Given the description of an element on the screen output the (x, y) to click on. 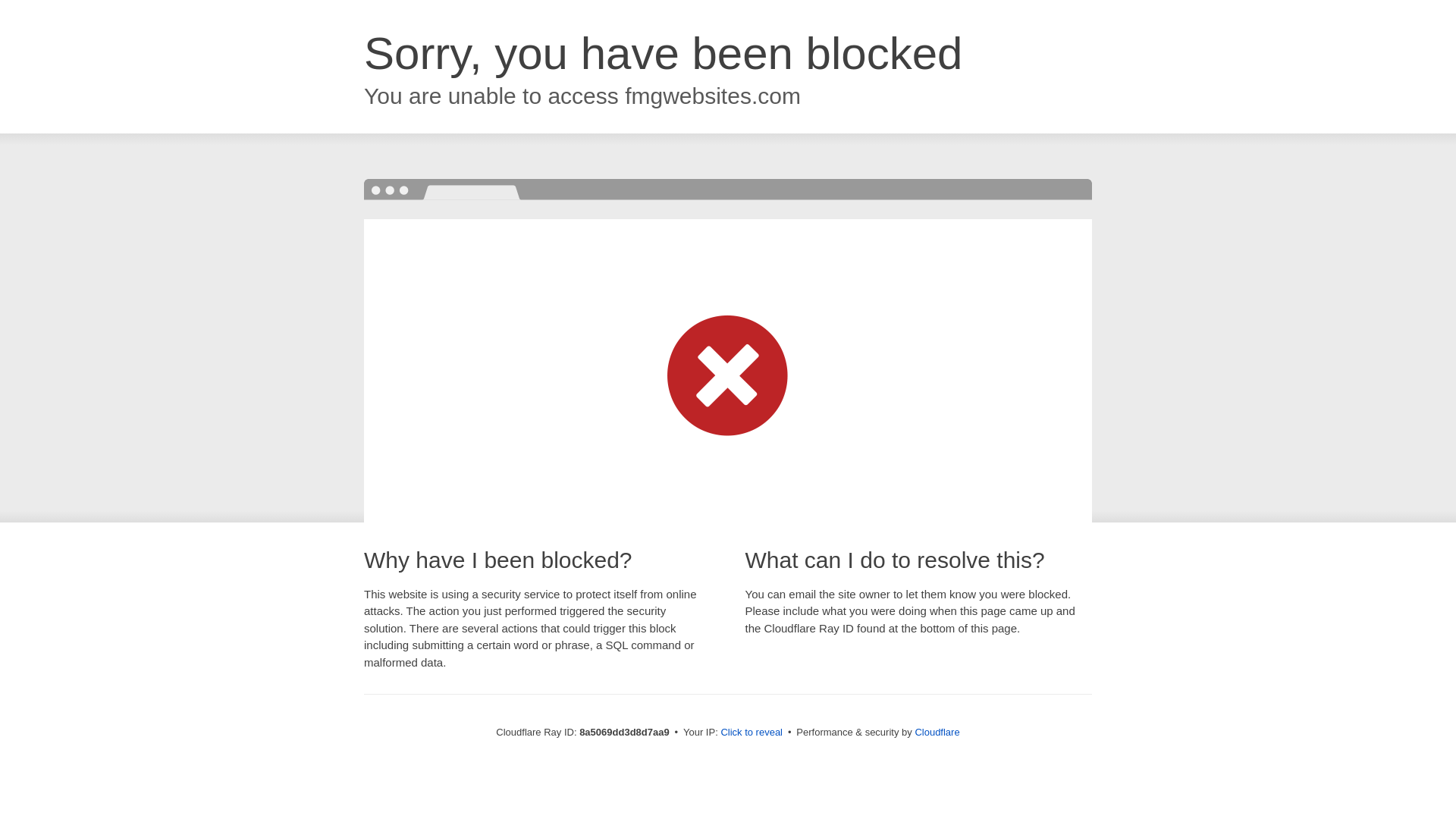
Cloudflare (936, 731)
Click to reveal (751, 732)
